Given the description of an element on the screen output the (x, y) to click on. 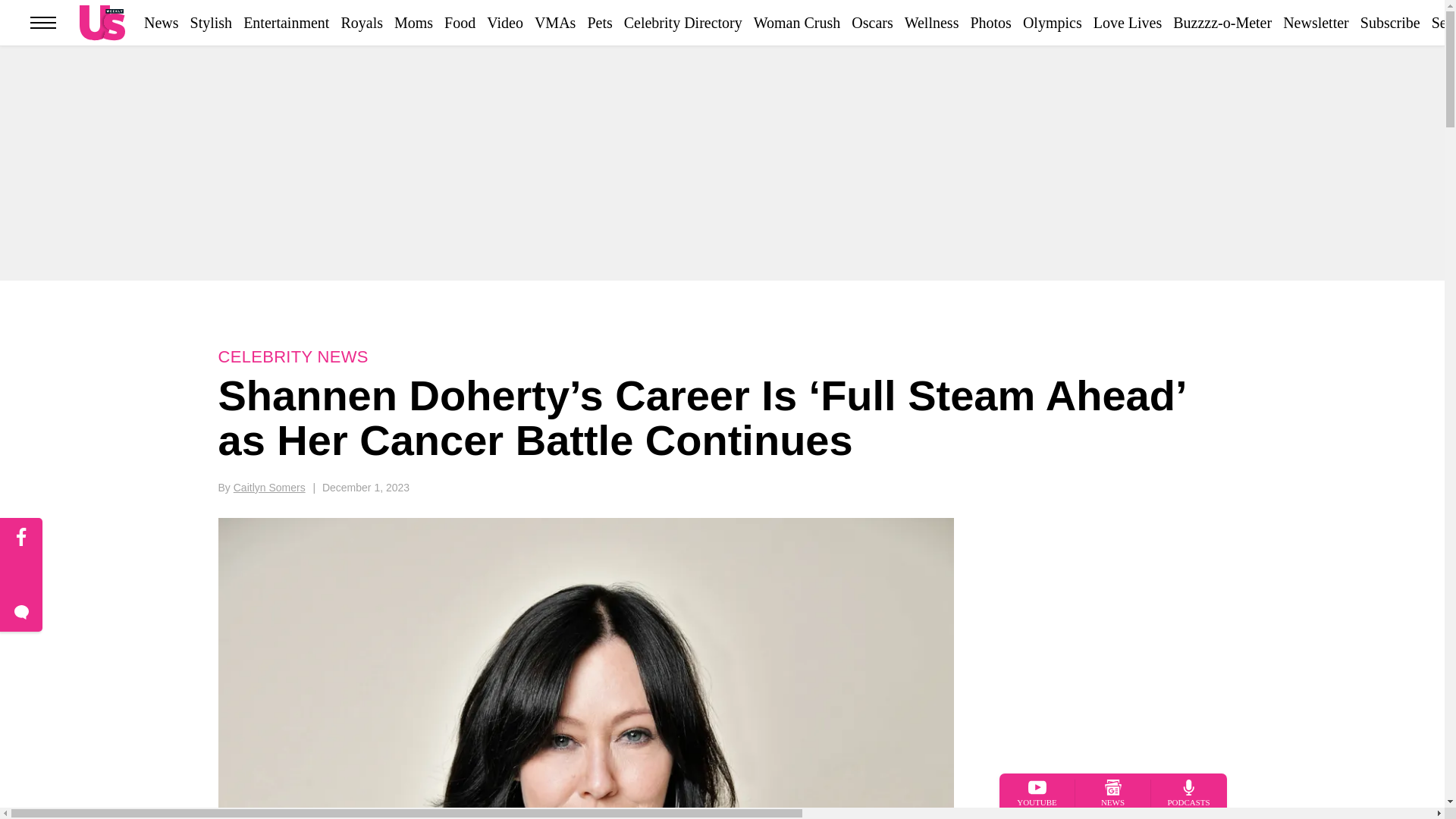
Moms (413, 22)
Click to share on Facebook (21, 537)
Royals (361, 22)
Posts by Caitlyn Somers (268, 487)
Entertainment (286, 22)
Food (460, 22)
Click to share on Twitter (21, 575)
News (161, 22)
Stylish (211, 22)
Us Weekly Magazine (102, 22)
